Given the description of an element on the screen output the (x, y) to click on. 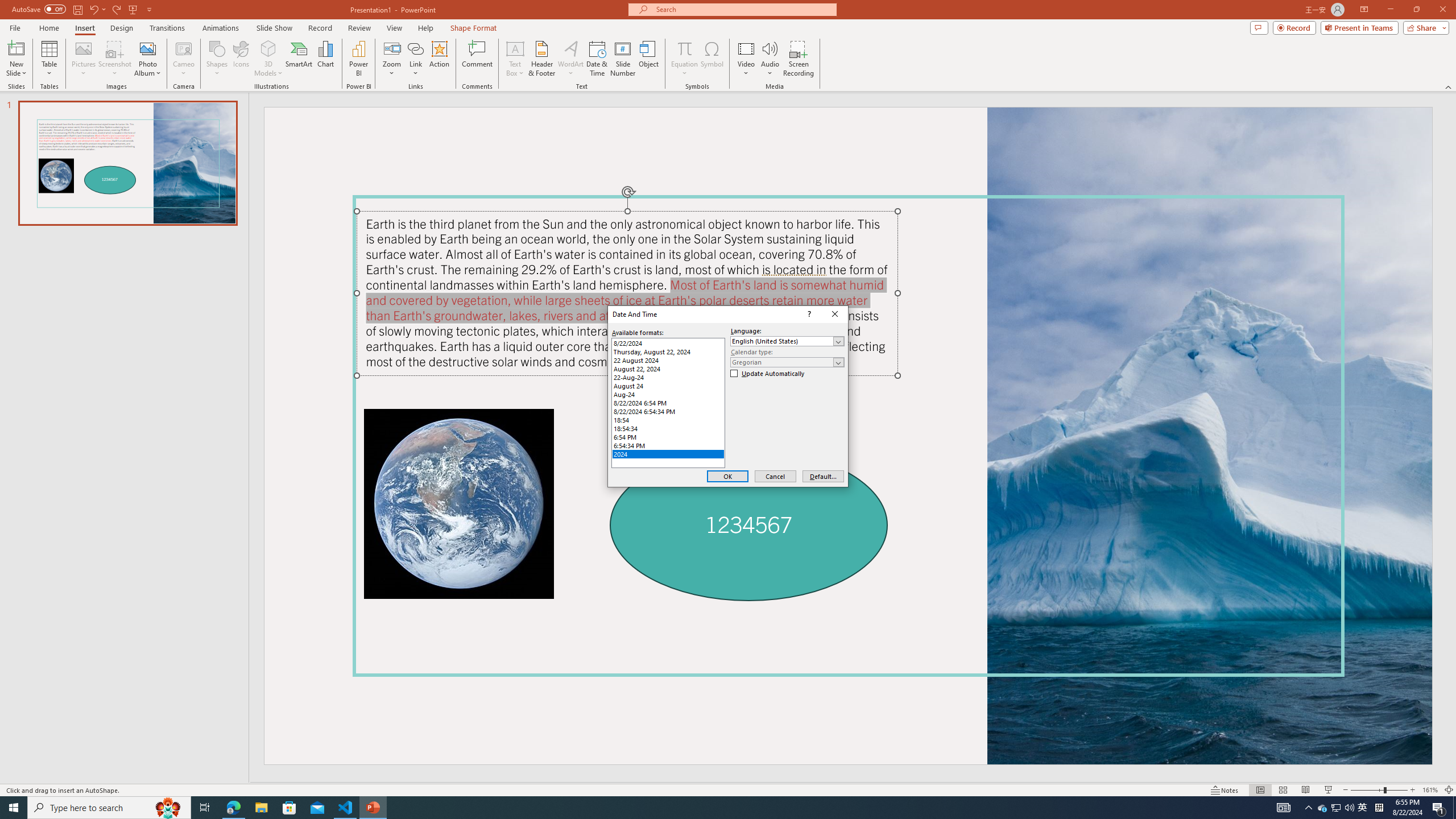
Cameo (1335, 807)
AutomationID: 4105 (183, 48)
Action Center, 1 new notification (1283, 807)
Context help (1439, 807)
User Promoted Notification Area (807, 314)
Shapes (1336, 807)
Type here to search (216, 58)
From Beginning (108, 807)
Chart... (133, 9)
August 22, 2024 (325, 58)
3D Models (667, 368)
Audio (268, 48)
Equation (769, 58)
